Given the description of an element on the screen output the (x, y) to click on. 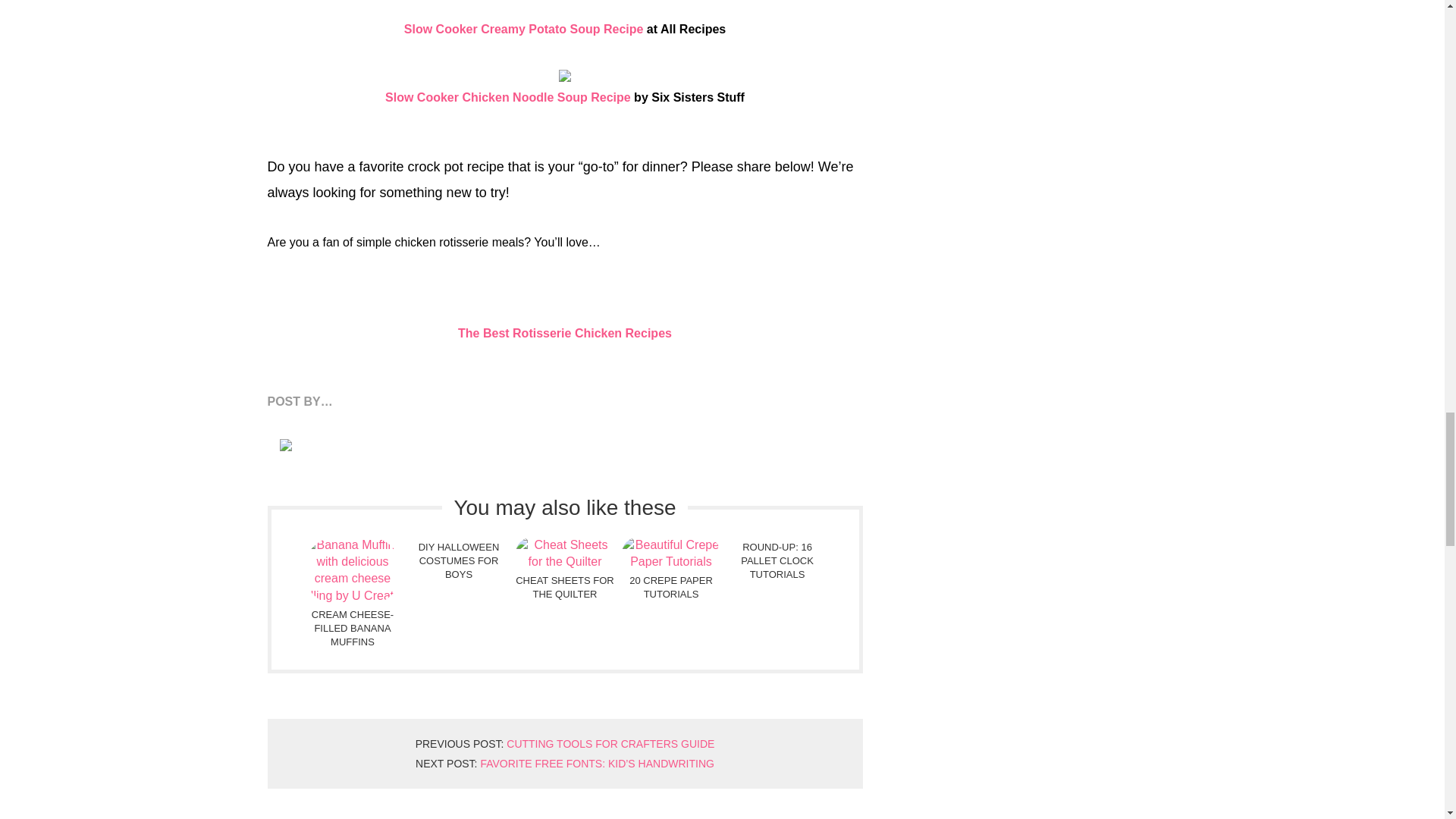
Permanent Link toDIY Halloween Costumes for Boys (458, 560)
Permanent Link to20 Crepe Paper Tutorials (670, 569)
Permanent Link toCheat Sheets for the Quilter (564, 569)
